Given the description of an element on the screen output the (x, y) to click on. 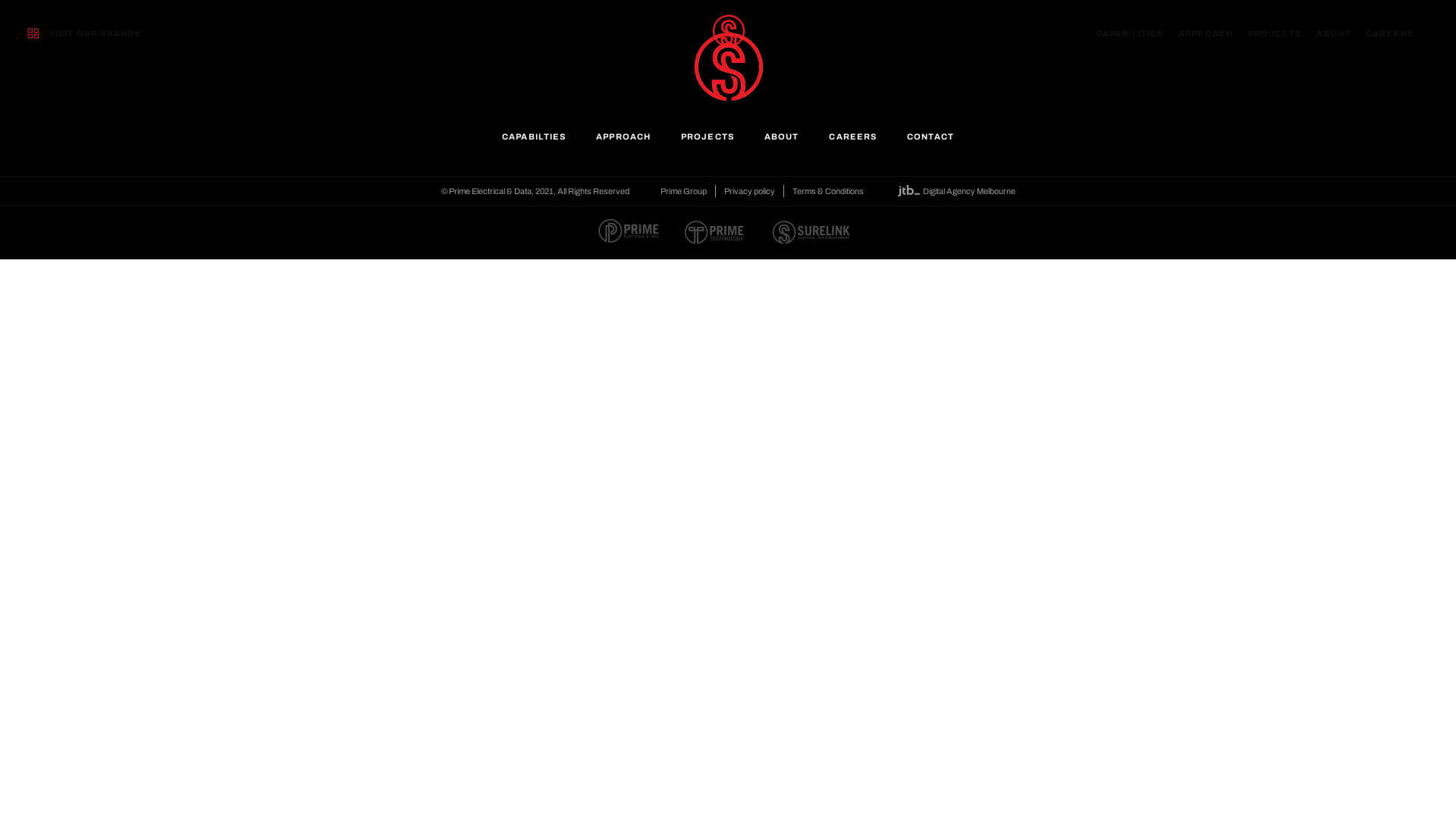
ABOUT Element type: text (781, 147)
CAREERS Element type: text (852, 147)
APPROACH Element type: text (622, 147)
CAREERS Element type: text (1389, 32)
APPROACH Element type: text (1205, 32)
Terms & Conditions Element type: text (826, 190)
CAPABILITIES Element type: text (1129, 32)
CONTACT Element type: text (930, 147)
CAPABILTIES Element type: text (533, 147)
Digital Agency Melbourne Element type: text (954, 190)
ABOUT Element type: text (1333, 32)
PROJECTS Element type: text (707, 147)
Prime Group Element type: text (682, 190)
Privacy policy Element type: text (748, 190)
PROJECTS Element type: text (1274, 32)
